Given the description of an element on the screen output the (x, y) to click on. 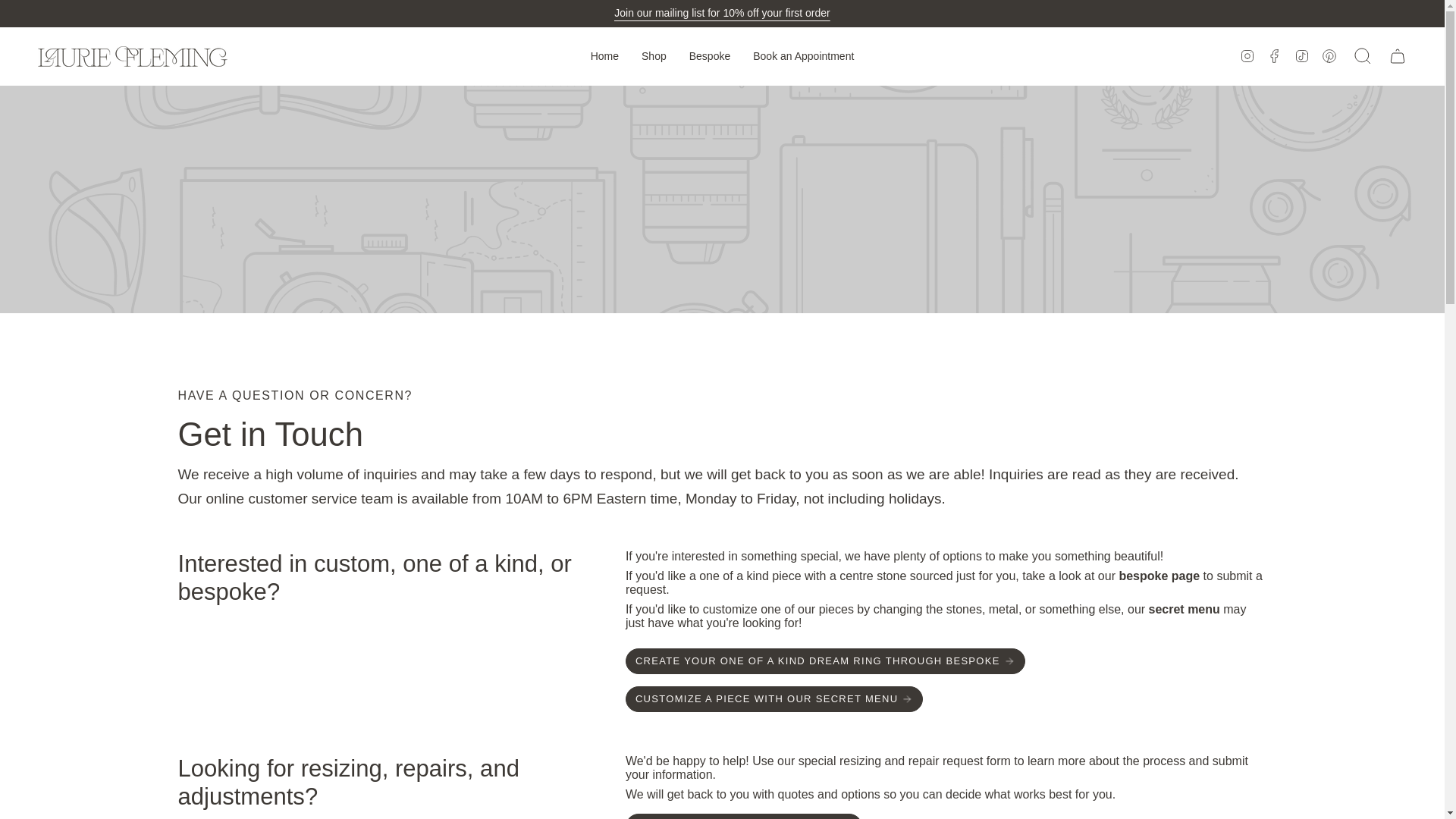
Bespoke (709, 56)
Laurie Fleming Jewellery on Pinterest (1329, 55)
Home (604, 56)
Search (1362, 55)
Laurie Fleming Jewellery on Facebook (1274, 55)
Cart (1397, 55)
Laurie Fleming Jewellery on Instagram (1247, 55)
Shop (654, 56)
Sign up for our mailing list (721, 14)
Laurie Fleming Jewellery on TikTok (1301, 55)
